Given the description of an element on the screen output the (x, y) to click on. 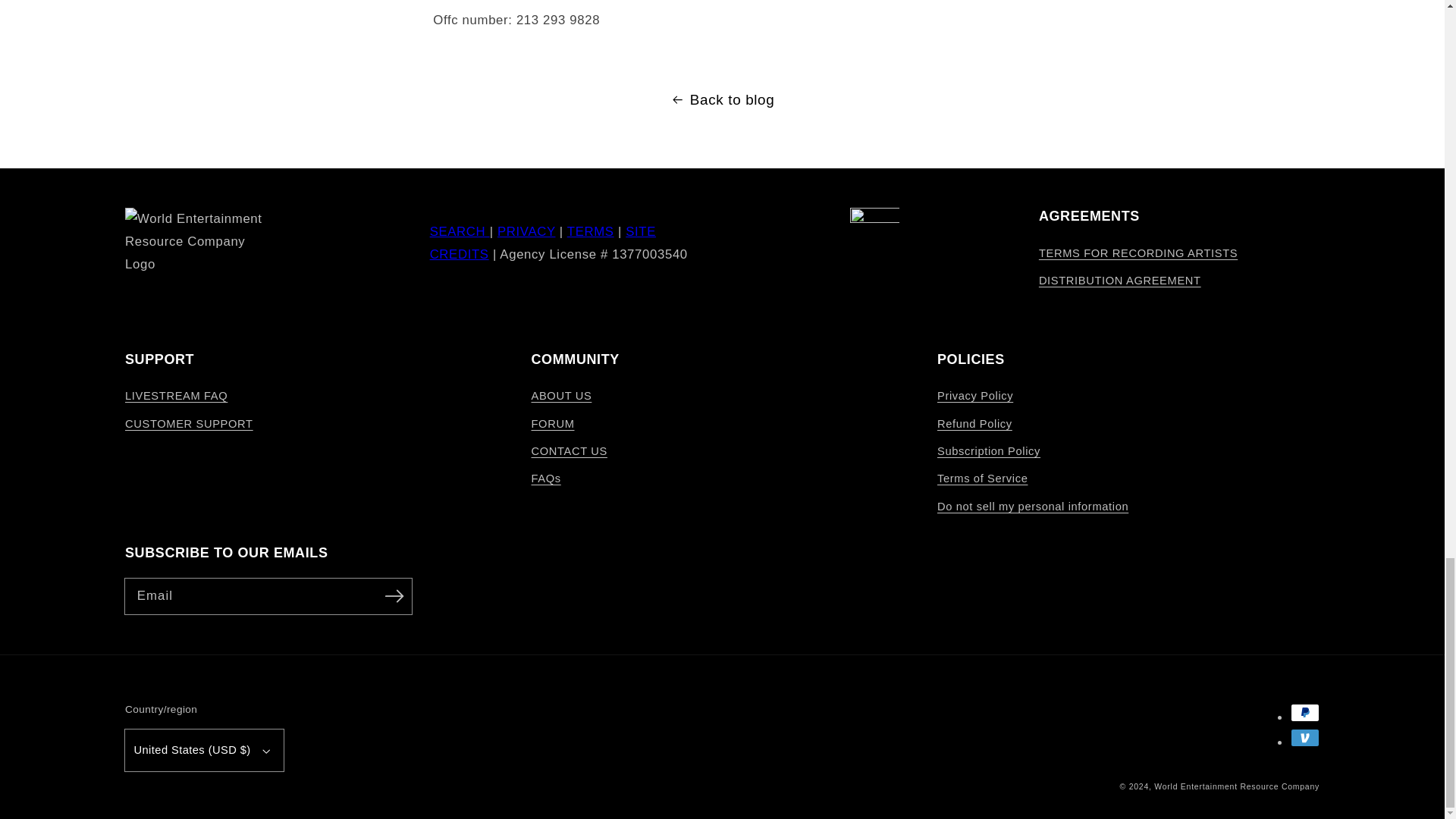
PayPal (1304, 712)
Privacy Policy (526, 231)
Venmo (1304, 737)
Terms of Service (590, 231)
